Given the description of an element on the screen output the (x, y) to click on. 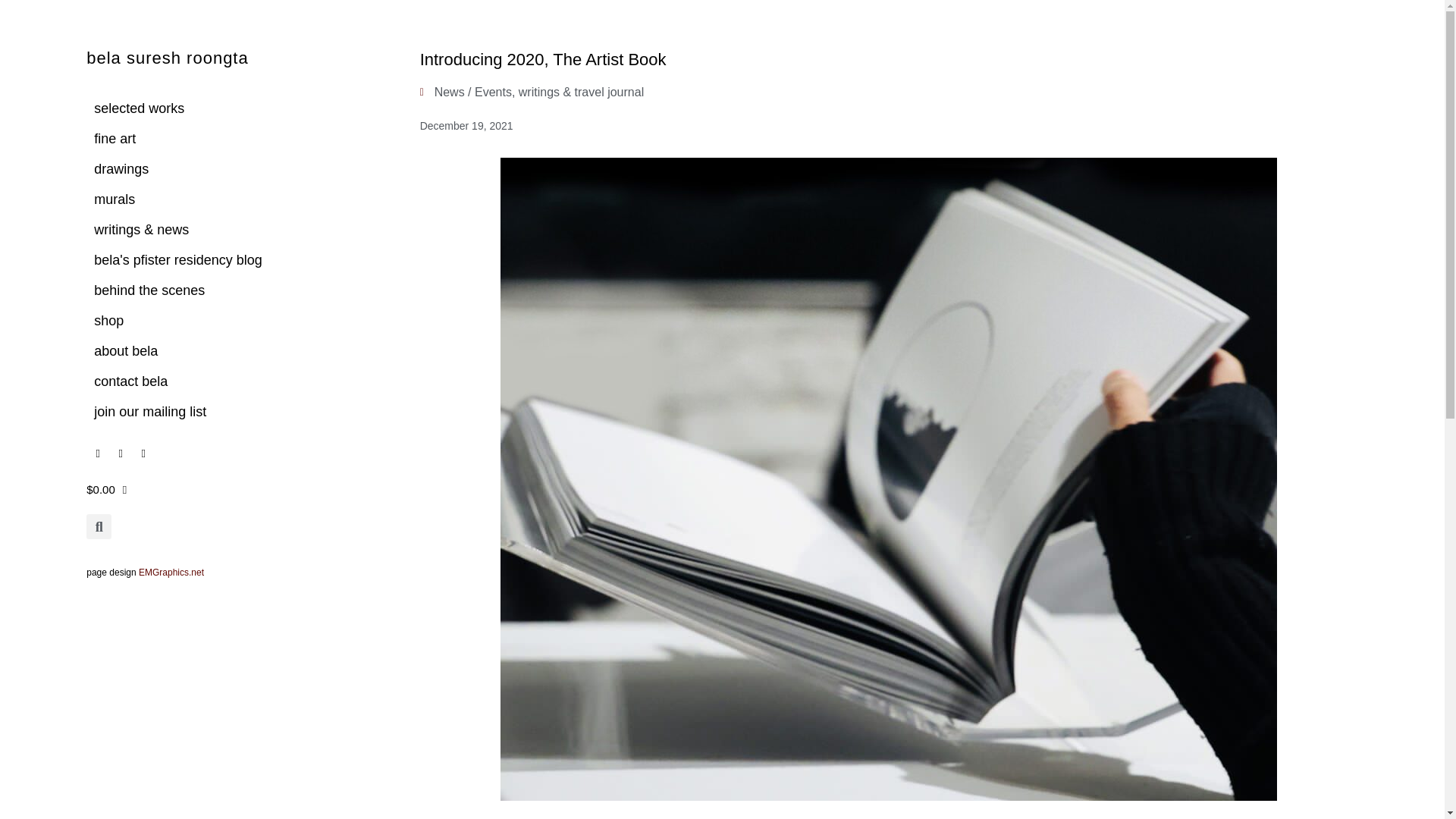
drawings (236, 168)
bela suresh roongta (166, 57)
shop (236, 320)
join our mailing list (236, 411)
behind the scenes (236, 290)
selected works (236, 108)
murals (236, 199)
fine art (236, 138)
about bela (236, 350)
EMGraphics.net (170, 572)
